Given the description of an element on the screen output the (x, y) to click on. 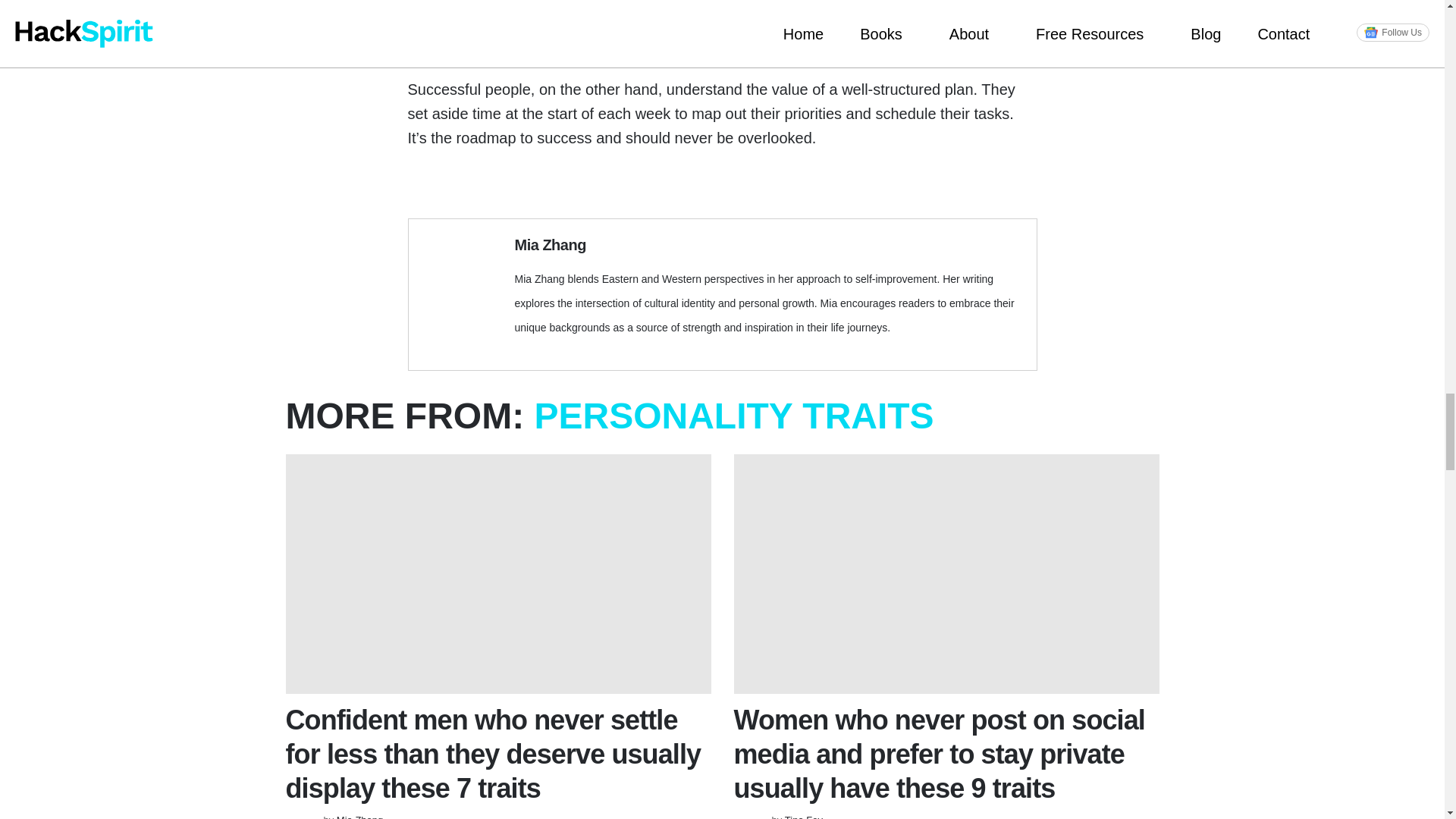
Posts by Mia Zhang (359, 816)
Posts by Tina Fey (803, 816)
